Given the description of an element on the screen output the (x, y) to click on. 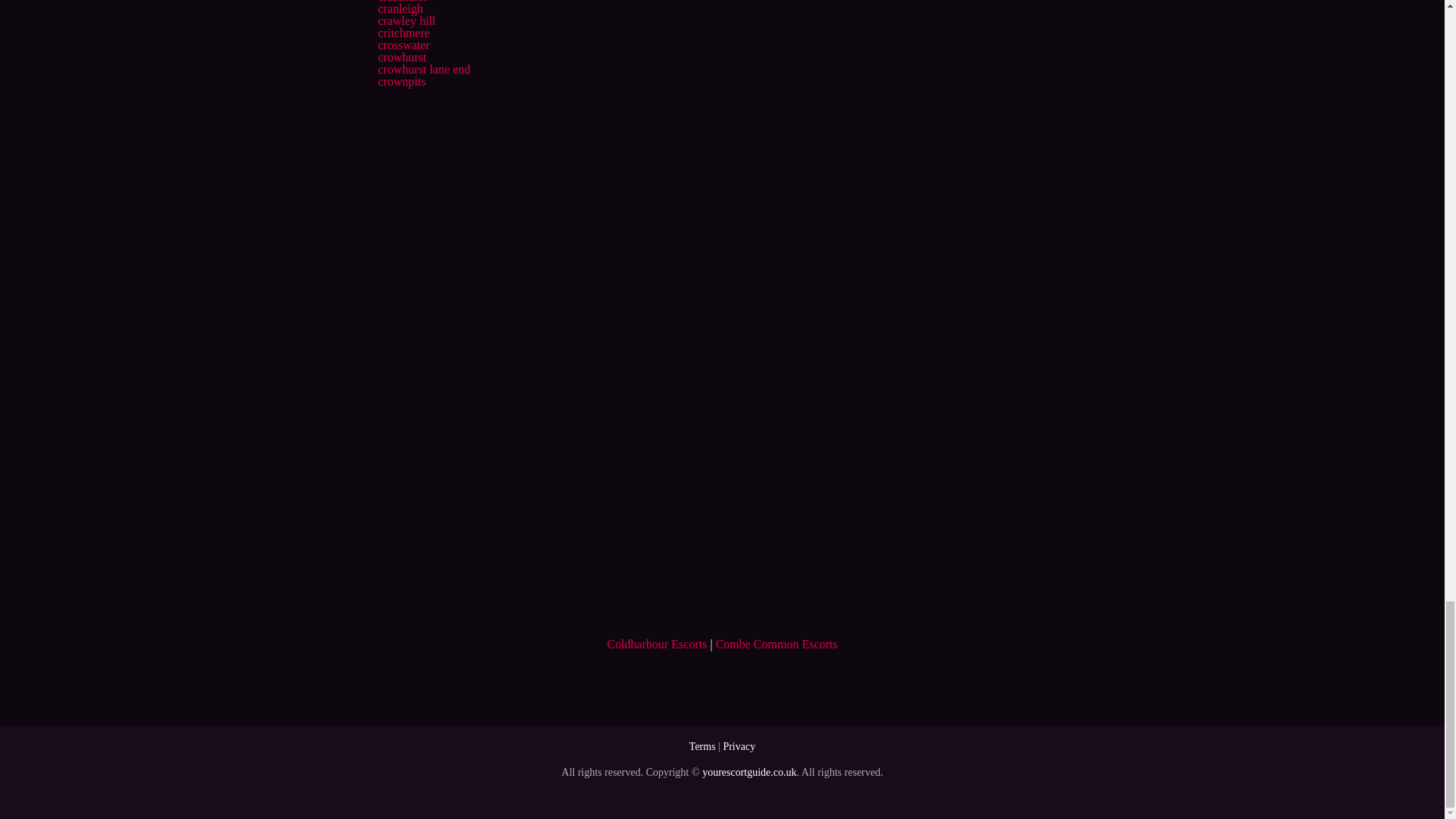
Privacy (738, 746)
Privacy (738, 746)
Coldharbour Escorts (656, 644)
critchmere (403, 32)
crosswater (403, 44)
crawley hill (406, 20)
Terms (702, 746)
cranleigh (400, 8)
Terms (702, 746)
cramhurst (401, 1)
crowhurst lane end (423, 69)
Combe Common Escorts (777, 644)
yourescortguide.co.uk (748, 772)
crownpits (401, 81)
crowhurst (401, 56)
